Given the description of an element on the screen output the (x, y) to click on. 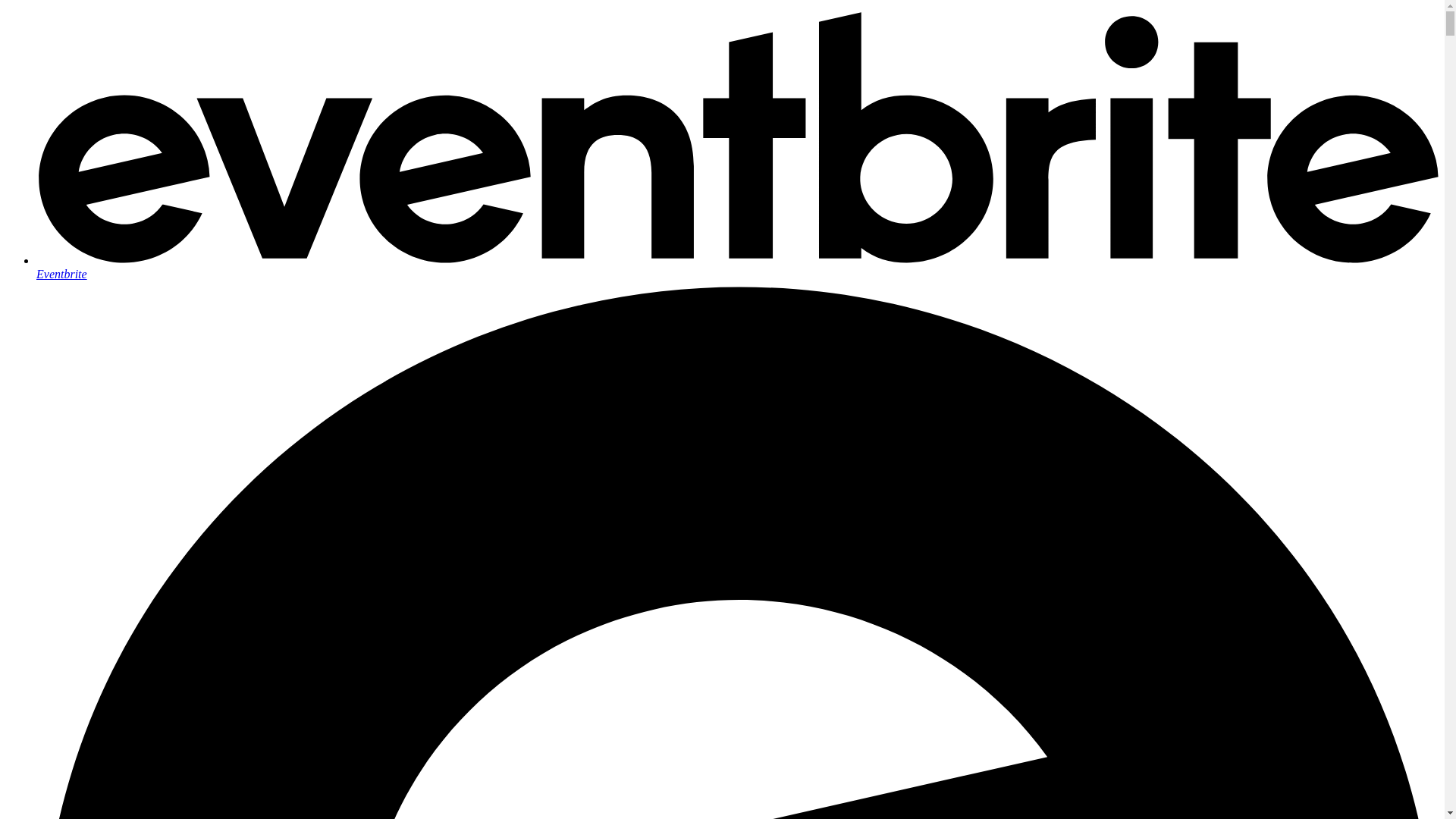
Eventbrite Element type: text (737, 267)
